Given the description of an element on the screen output the (x, y) to click on. 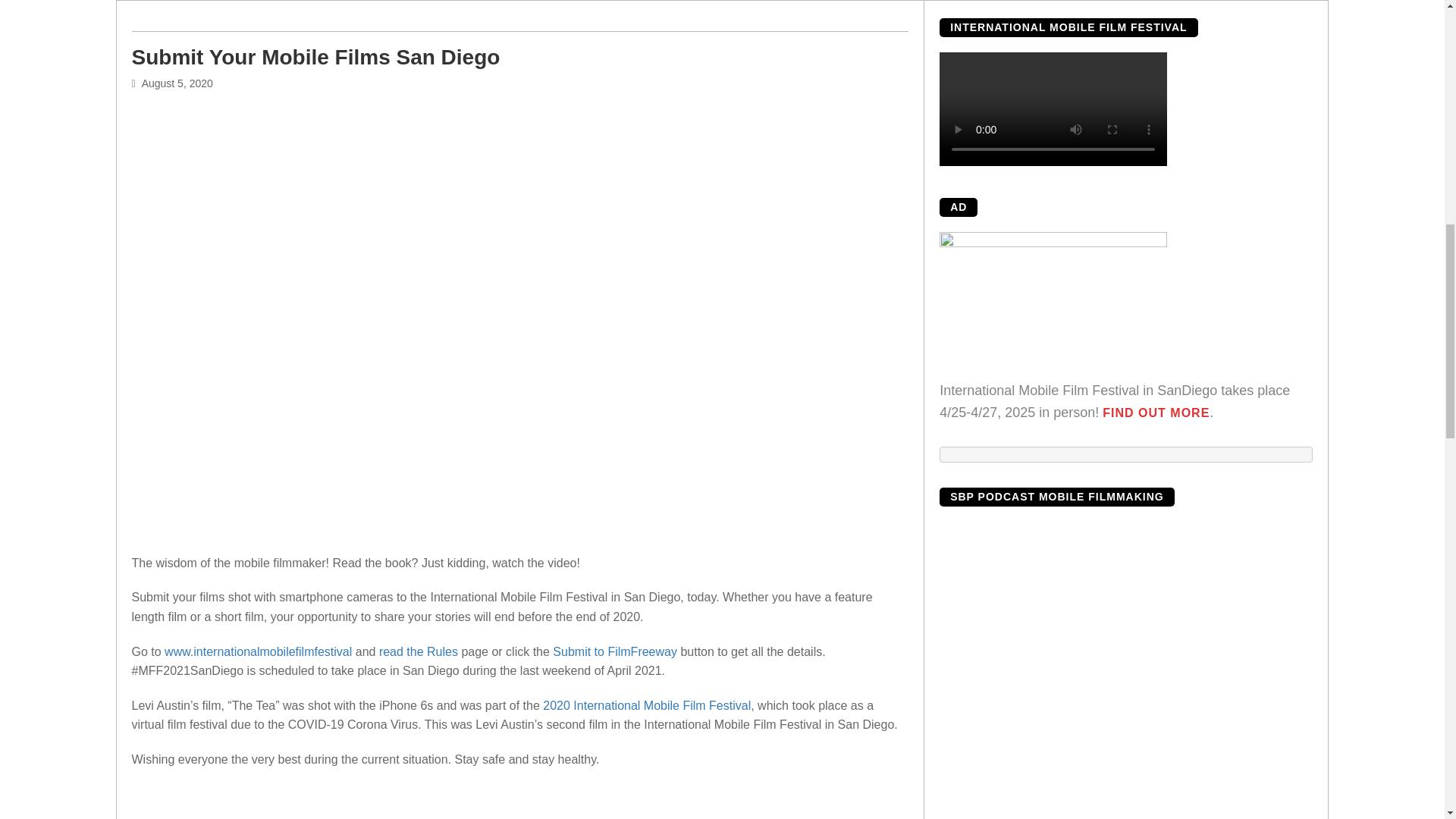
FIND OUT MORE (1155, 412)
read the Rules (418, 651)
SBP Podcast Mobile Filmmaking (1126, 670)
www.internationalmobilefilmfestival (258, 651)
2020 International Mobile Film Festival (647, 705)
Submit to FilmFreeway (615, 651)
